Given the description of an element on the screen output the (x, y) to click on. 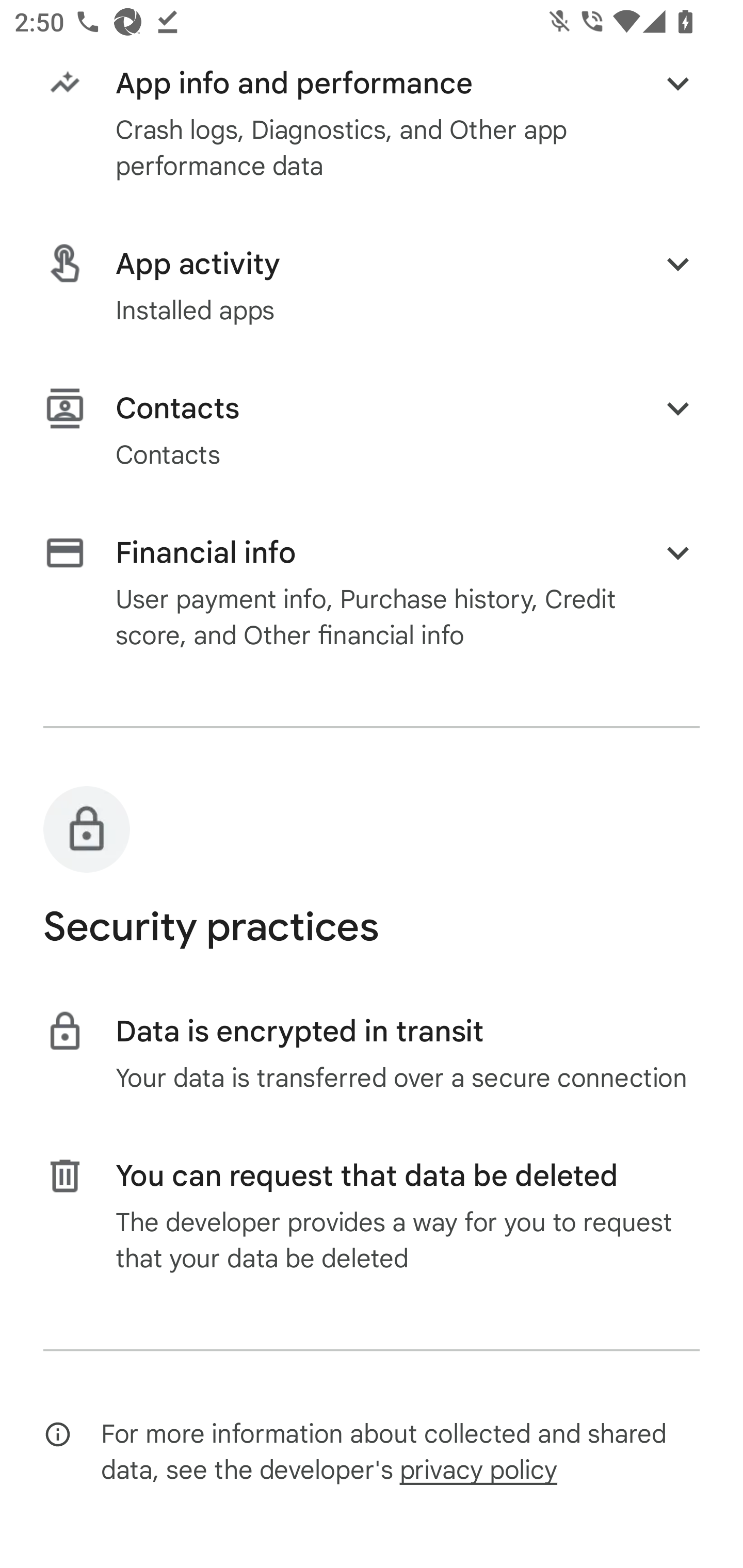
heading App activity Installed apps Expand button (371, 286)
heading Contacts Contacts Expand button (371, 430)
